Given the description of an element on the screen output the (x, y) to click on. 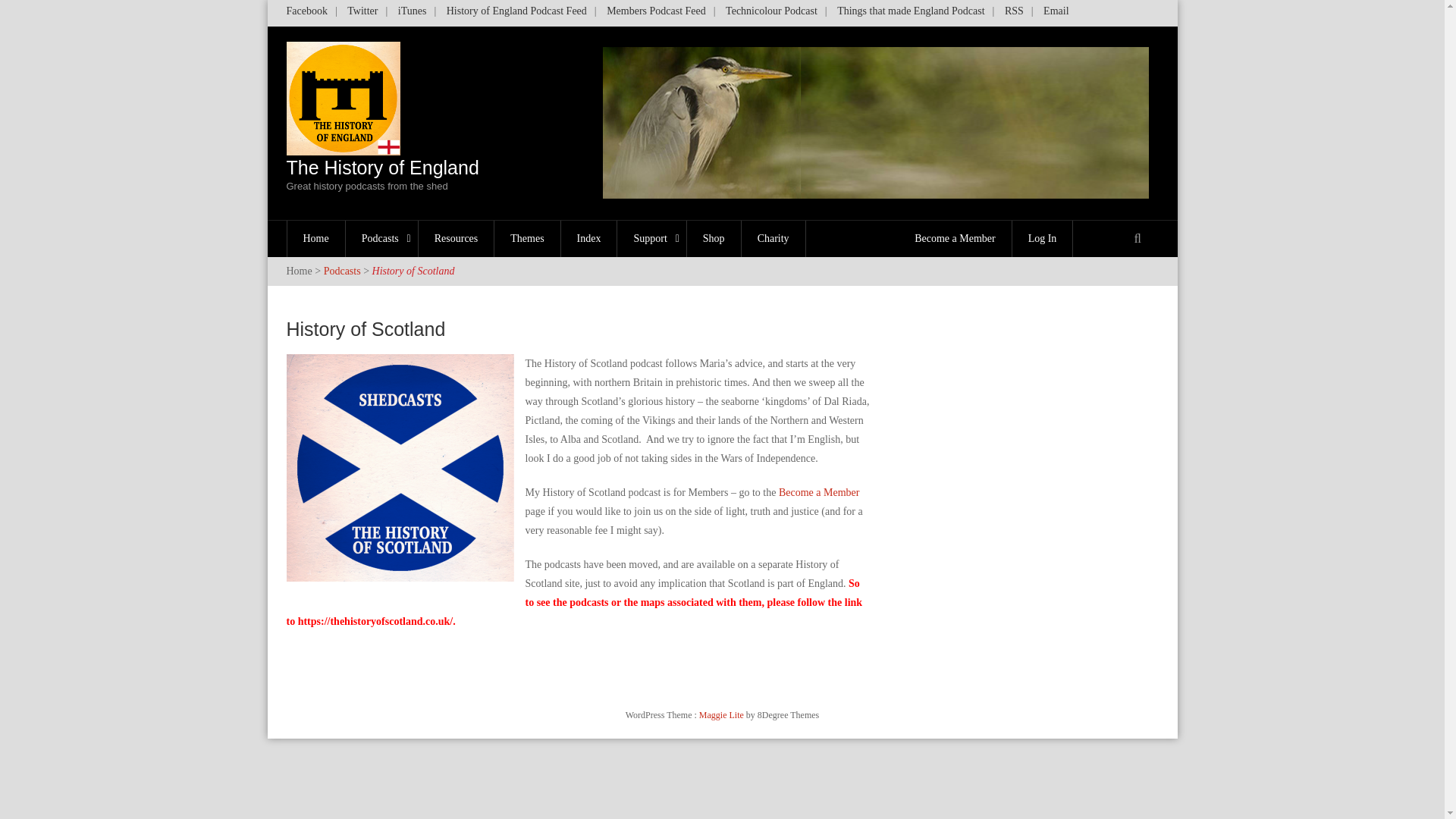
Email (1055, 13)
Themes (527, 238)
History of England Podcast Feed (516, 13)
Technicolour Podcast (771, 13)
Free WordPress Theme (721, 715)
Things that made England Podcast (910, 13)
Home (316, 238)
RSS (1013, 13)
Twitter (362, 13)
Index (588, 238)
Resources (457, 238)
Podcasts (382, 173)
iTunes (382, 238)
Facebook (411, 13)
